Given the description of an element on the screen output the (x, y) to click on. 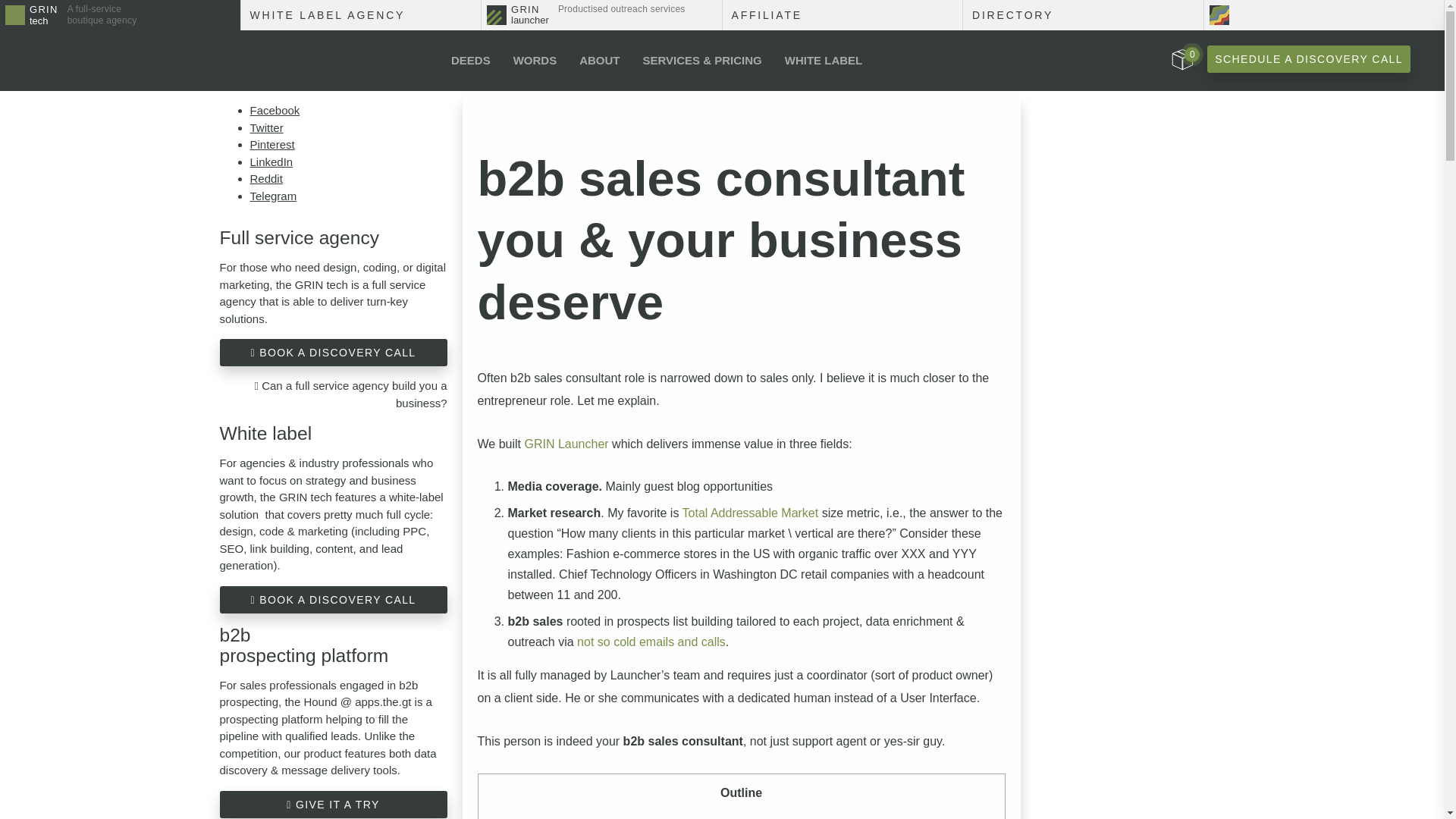
ABOUT (598, 60)
WORDS (535, 60)
AFFILIATE (842, 15)
WHITE LABEL AGENCY (361, 15)
DIRECTORY (120, 15)
0 (1083, 15)
DEEDS (1182, 58)
SCHEDULE A DISCOVERY CALL (470, 60)
WHITE LABEL (1308, 58)
